Given the description of an element on the screen output the (x, y) to click on. 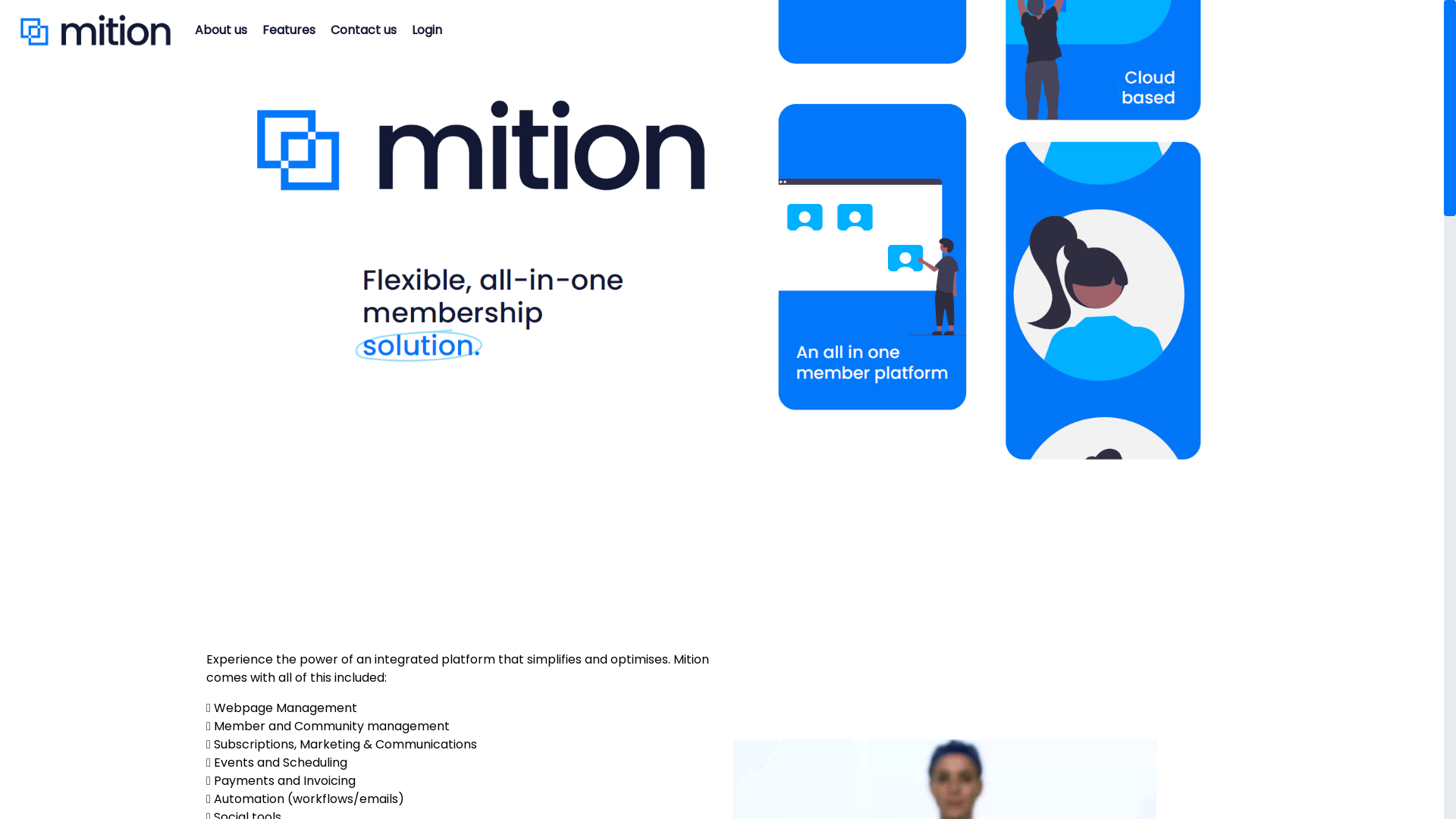
Login Element type: text (426, 30)
Contact us Element type: text (363, 30)
Features Element type: text (288, 30)
About us Element type: text (220, 30)
